Given the description of an element on the screen output the (x, y) to click on. 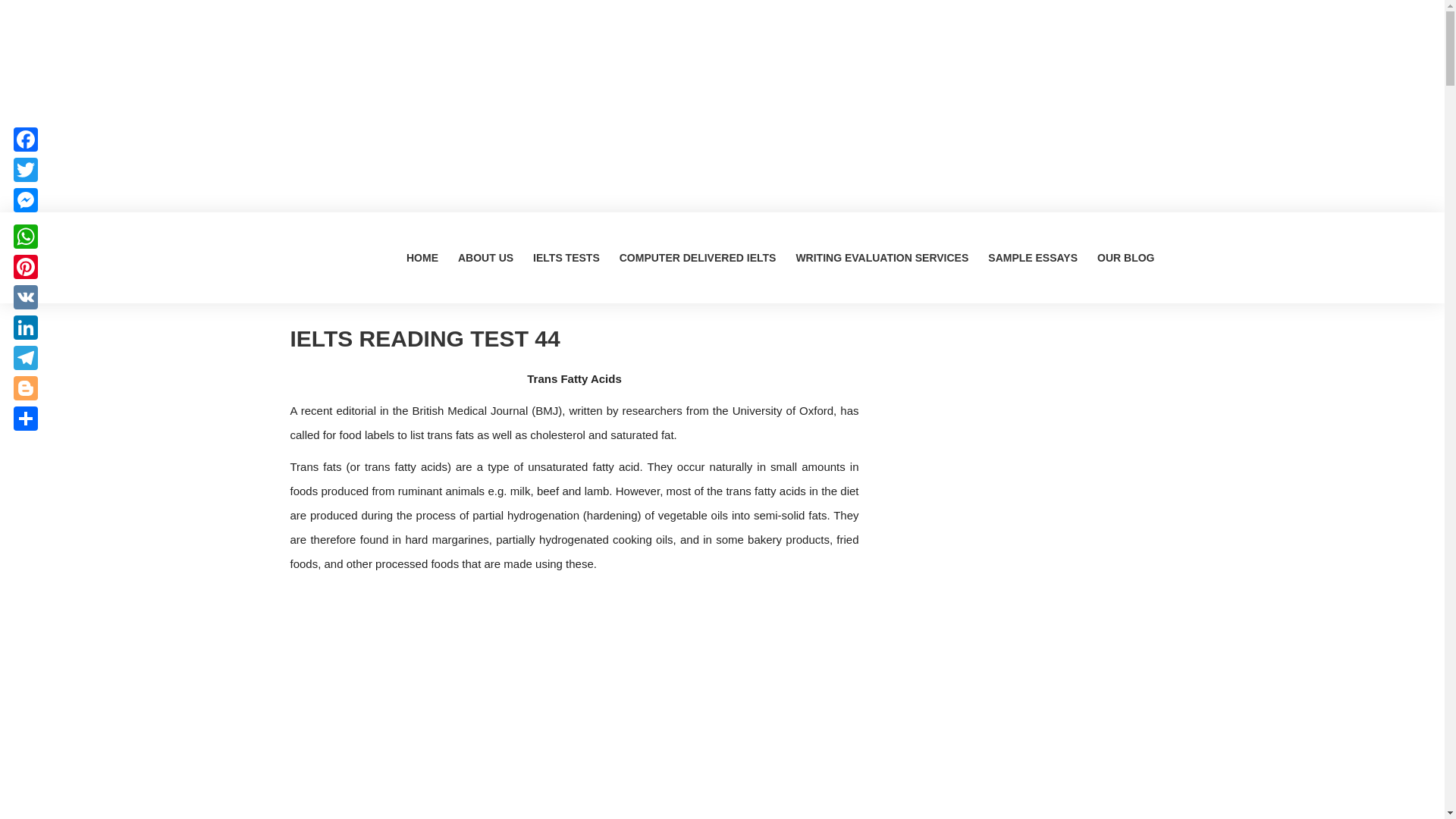
WhatsApp (25, 236)
Advertisement (1017, 784)
Advertisement (1017, 643)
WRITING EVALUATION SERVICES (882, 257)
Advertisement (1017, 430)
Twitter (25, 169)
COMPUTER DELIVERED IELTS (698, 257)
Facebook (25, 139)
Messenger (25, 200)
IELTS TESTS (566, 257)
SAMPLE ESSAYS (1032, 257)
